Given the description of an element on the screen output the (x, y) to click on. 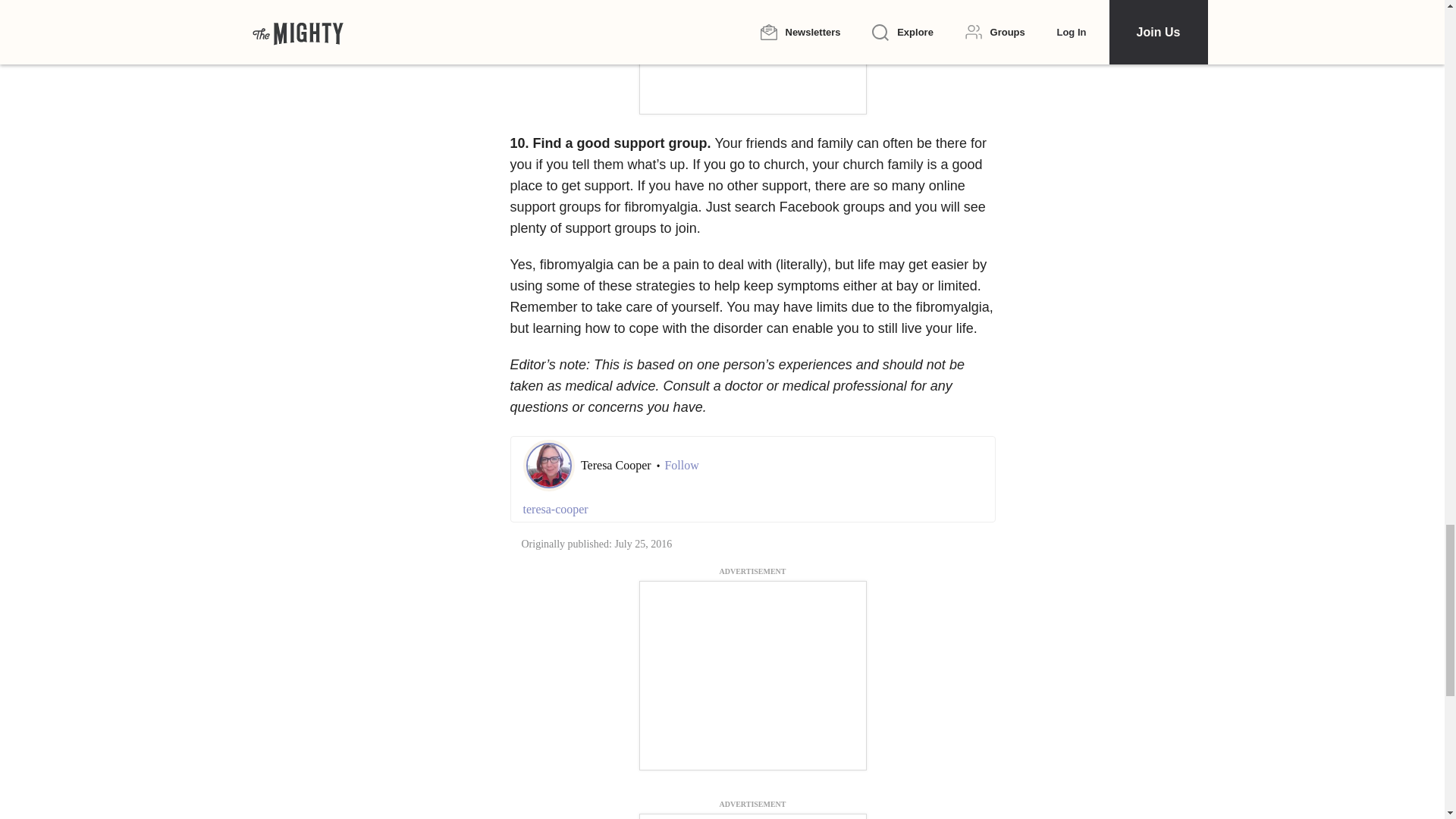
teresa-cooper (752, 509)
Teresa Cooper (616, 464)
Follow (680, 465)
